Given the description of an element on the screen output the (x, y) to click on. 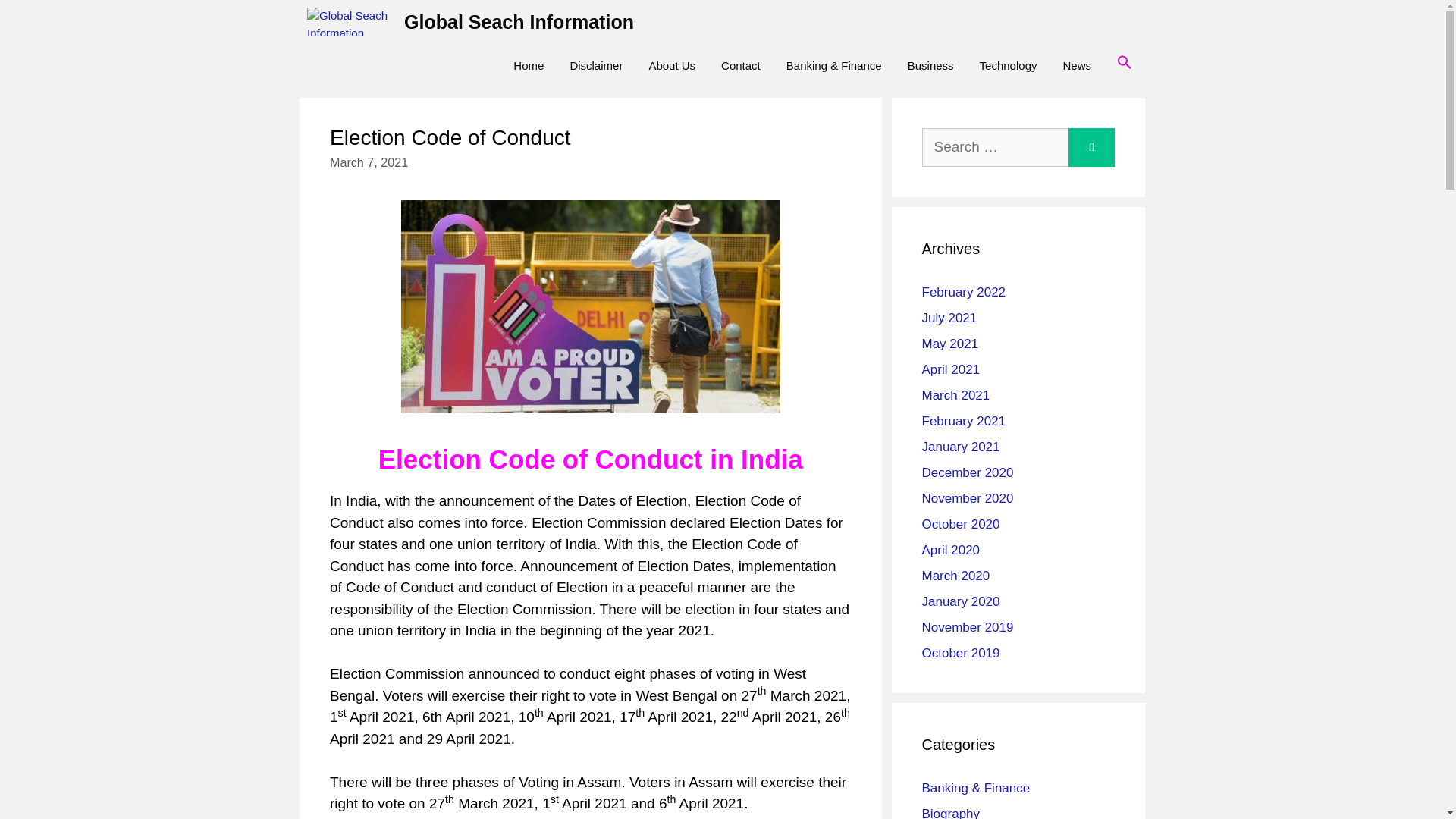
Home (528, 65)
Search for: (994, 147)
News (1076, 65)
Global Seach Information (351, 22)
Disclaimer (595, 65)
Contact (740, 65)
Technology (1007, 65)
About Us (670, 65)
Global Seach Information (518, 22)
Business (930, 65)
